Given the description of an element on the screen output the (x, y) to click on. 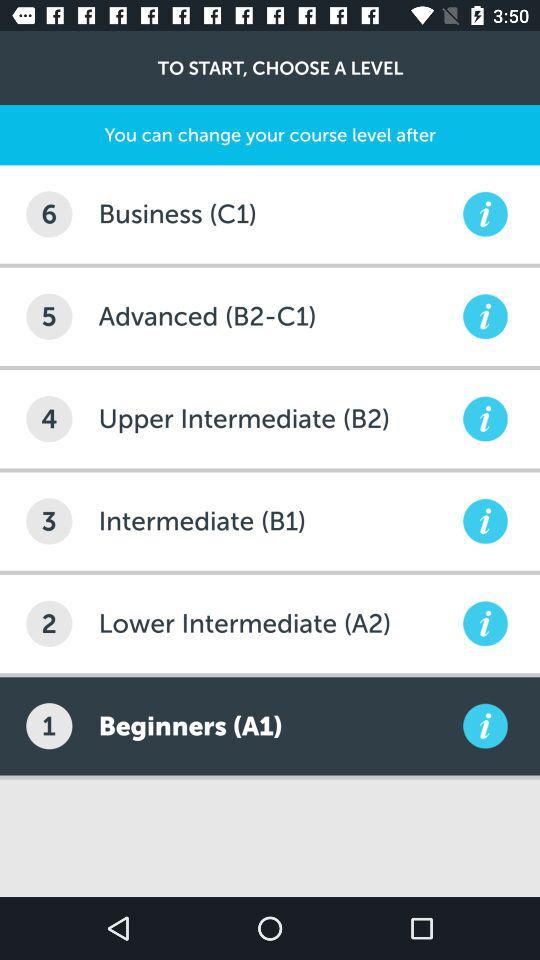
jump until 5 icon (49, 316)
